Given the description of an element on the screen output the (x, y) to click on. 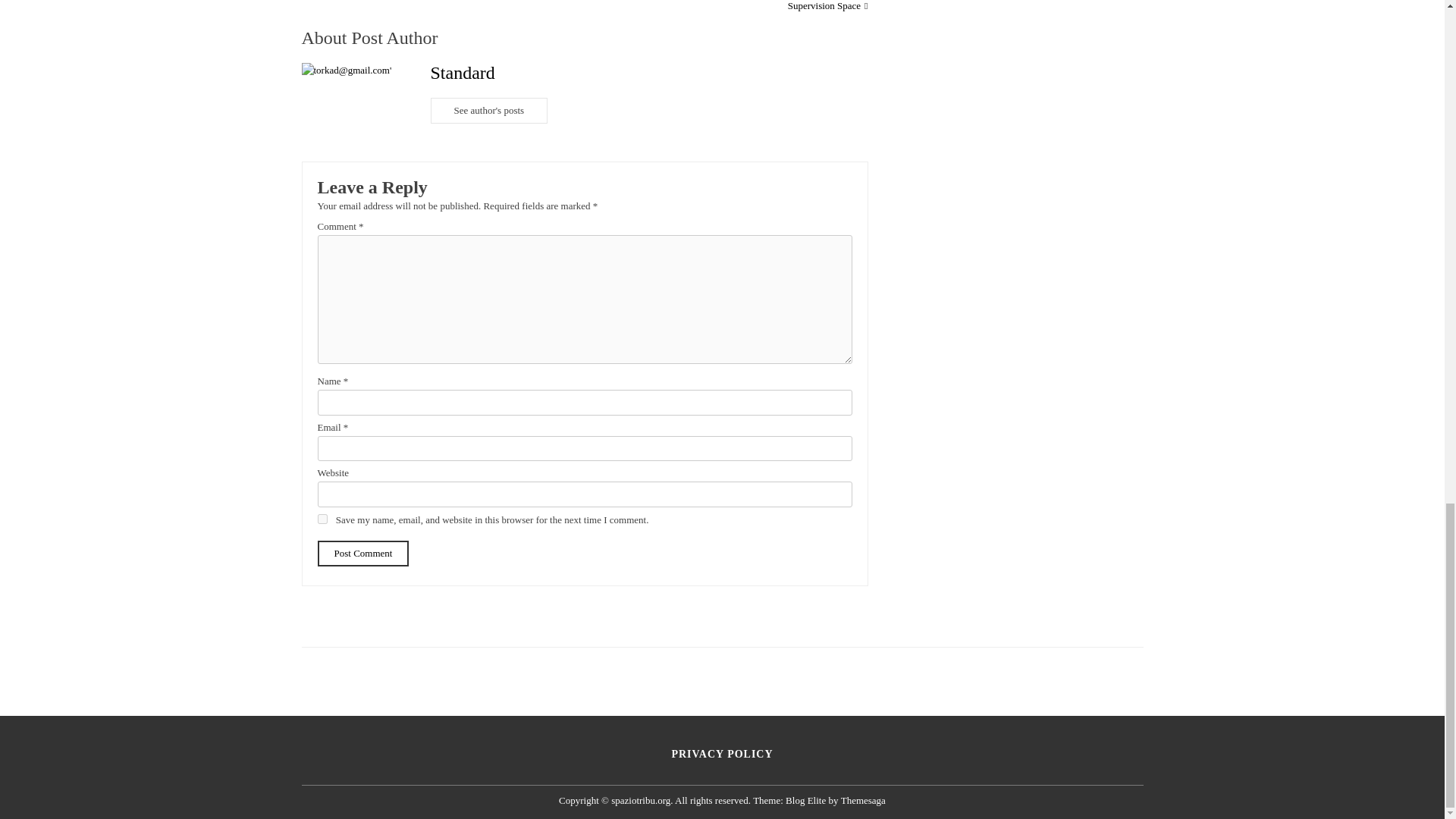
Post Comment (363, 553)
See author's posts (489, 110)
Standard (462, 72)
Post Comment (363, 553)
yes (321, 519)
